Given the description of an element on the screen output the (x, y) to click on. 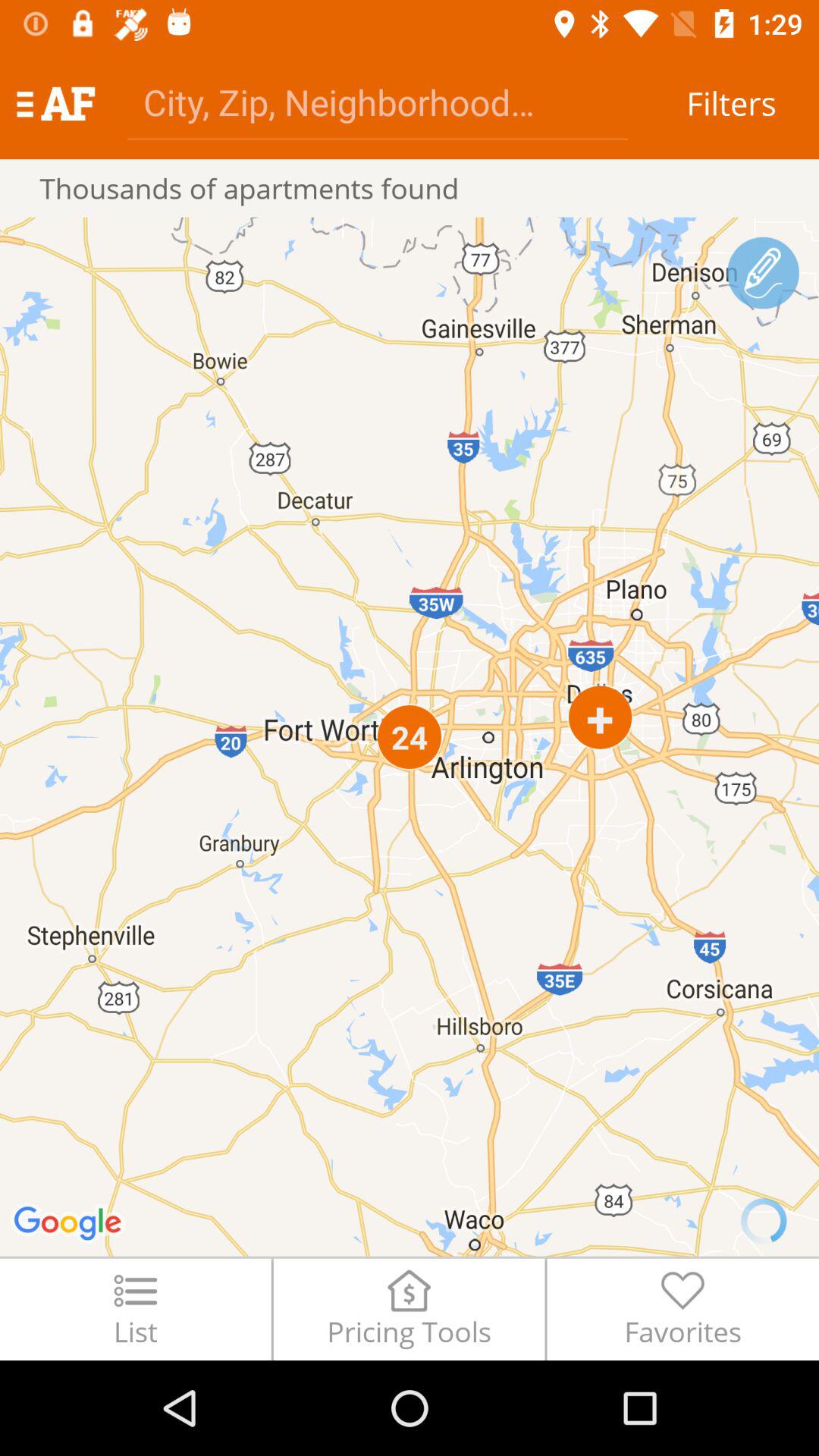
search option (377, 102)
